Given the description of an element on the screen output the (x, y) to click on. 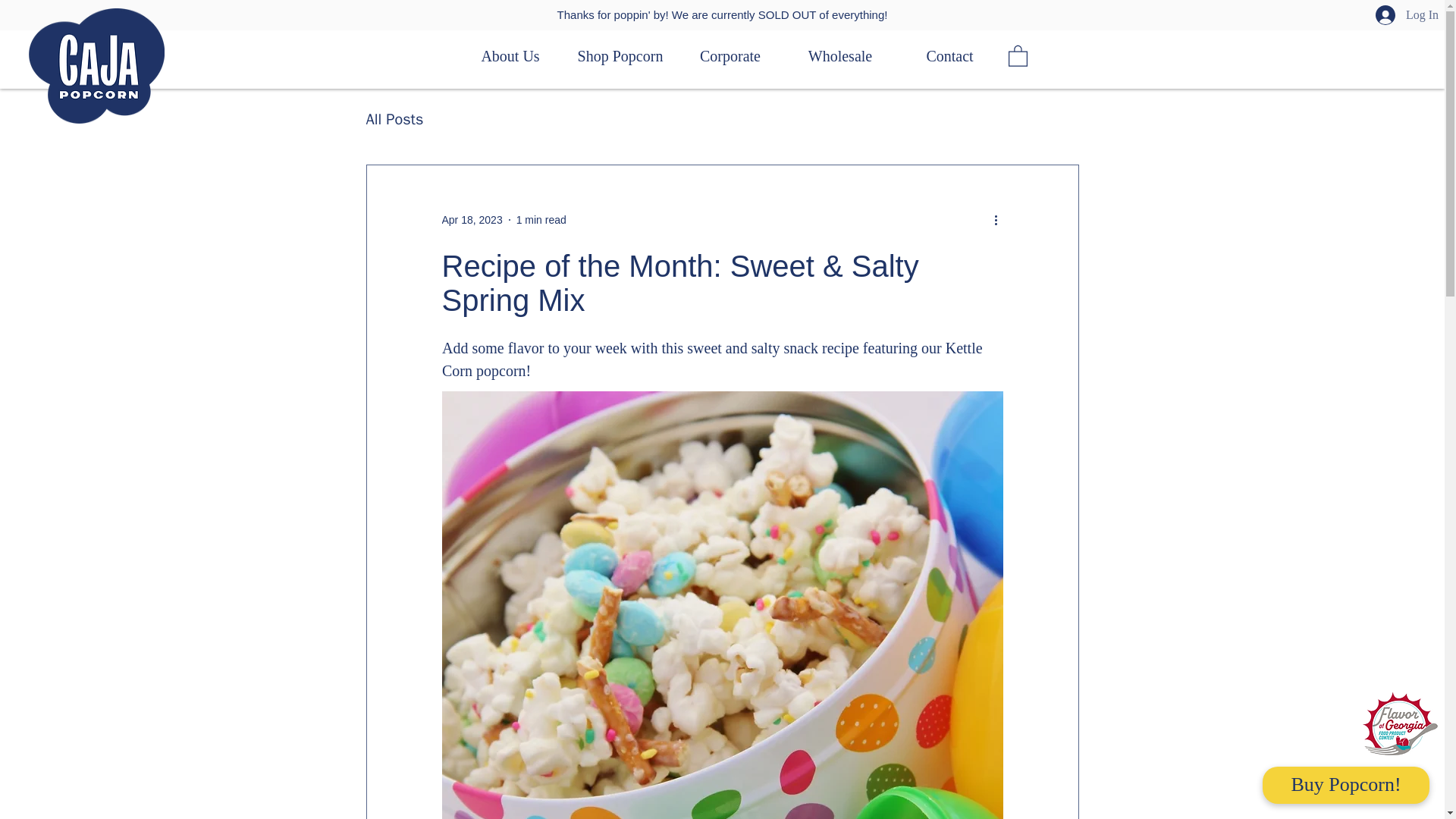
Buy Popcorn! (1345, 784)
About Us (509, 56)
1 min read (541, 219)
Shop Popcorn (620, 56)
Contact (949, 56)
Log In (1397, 14)
All Posts (394, 118)
Wholesale (840, 56)
Apr 18, 2023 (471, 219)
Corporate (729, 56)
